Given the description of an element on the screen output the (x, y) to click on. 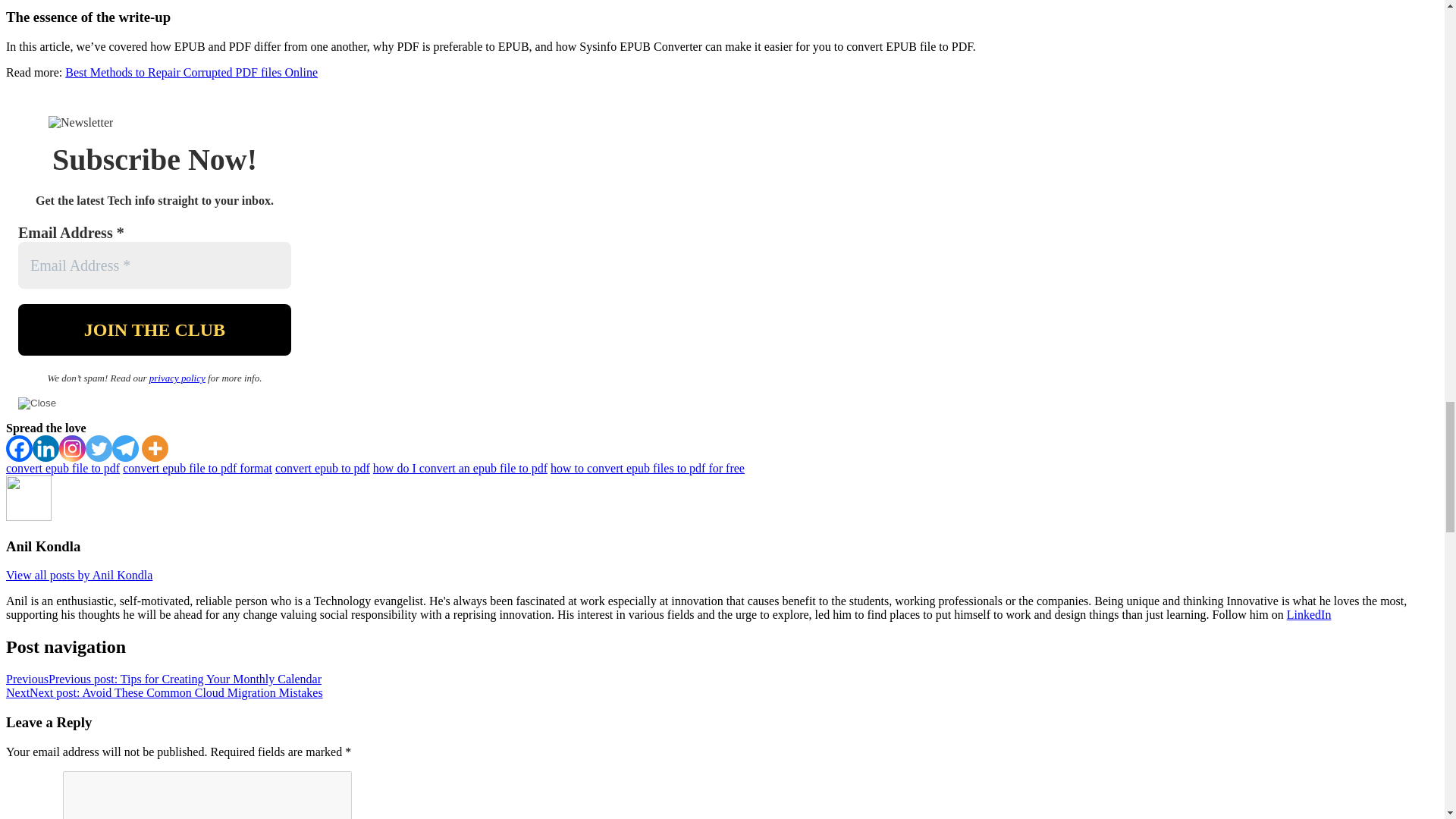
Facebook (18, 447)
JOIN THE CLUB (154, 329)
convert epub to pdf (322, 468)
JOIN THE CLUB (154, 329)
Instagram (72, 447)
Telegram (125, 447)
Best Methods to Repair Corrupted PDF files Online (191, 72)
More (154, 447)
how to convert epub files to pdf for free (647, 468)
privacy policy (177, 378)
convert epub file to pdf (62, 468)
Linkedin (45, 447)
convert epub file to pdf format (197, 468)
how do I convert an epub file to pdf (459, 468)
Email Address (154, 265)
